Given the description of an element on the screen output the (x, y) to click on. 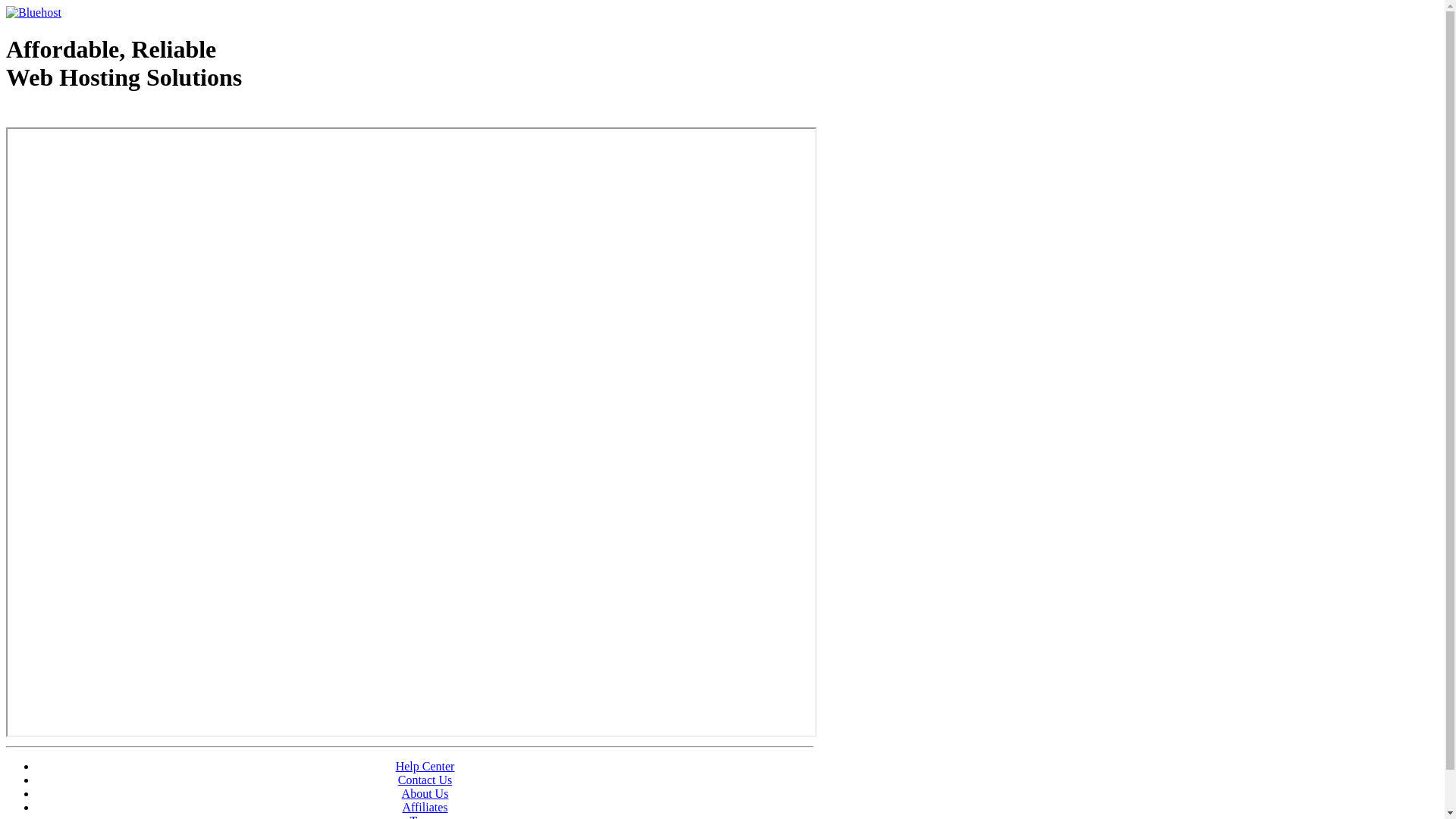
Affiliates Element type: text (424, 806)
About Us Element type: text (424, 793)
Help Center Element type: text (425, 765)
Web Hosting - courtesy of www.bluehost.com Element type: text (94, 115)
Contact Us Element type: text (425, 779)
